Given the description of an element on the screen output the (x, y) to click on. 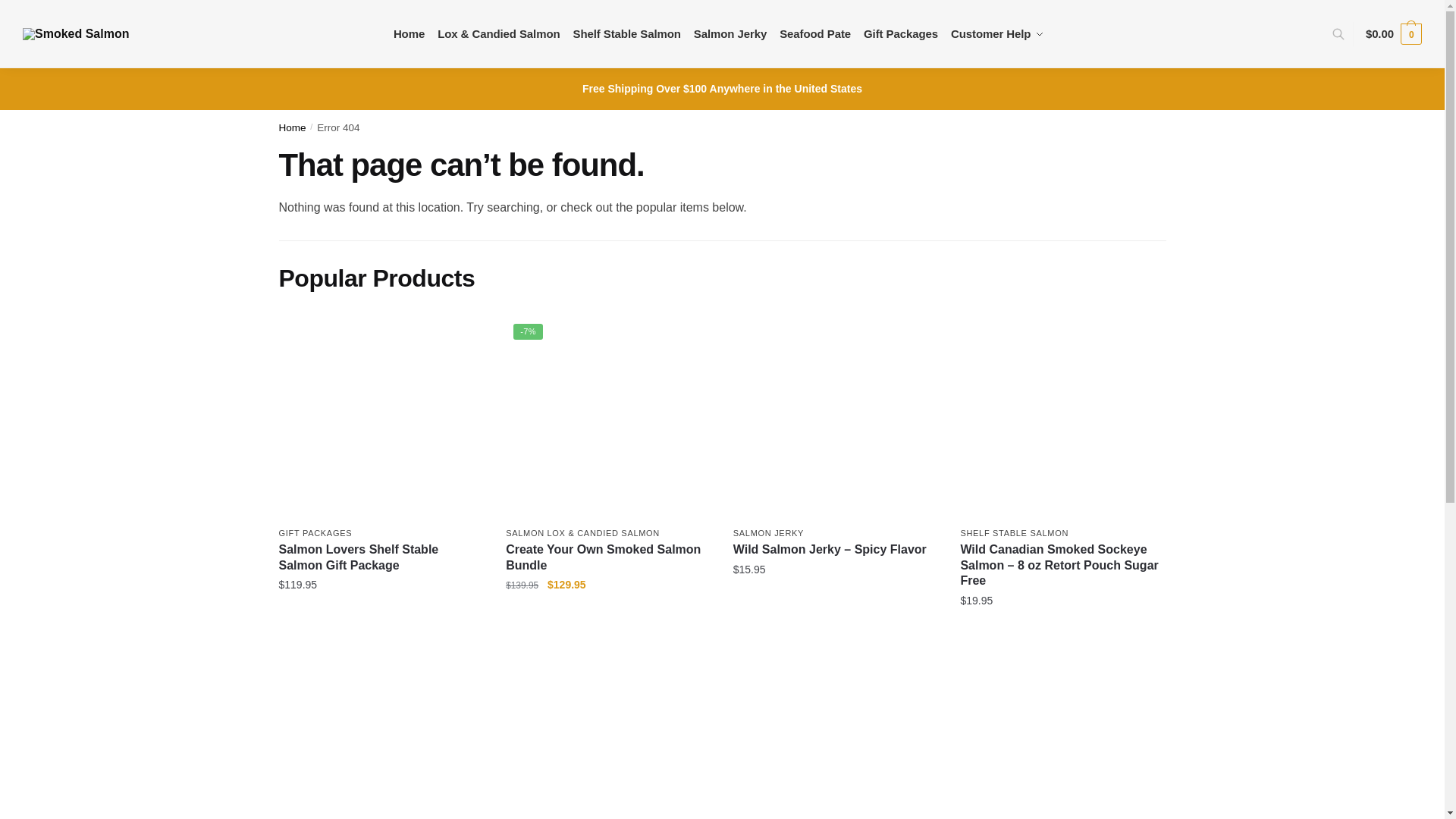
View your shopping cart (1393, 33)
Salmon Lovers Shelf Stable Salmon Gift Package (381, 418)
Customer Help (997, 33)
Shelf Stable Salmon (626, 33)
Salmon Jerky (730, 33)
Gift Packages (900, 33)
Create Your Own Smoked Salmon Bundle (607, 418)
Wild Smoked King Salmon Retort Pouch 8 oz (607, 734)
Wild Smoked Salmon Jerky 4 Pack (835, 734)
Seafood Pate (815, 33)
